Given the description of an element on the screen output the (x, y) to click on. 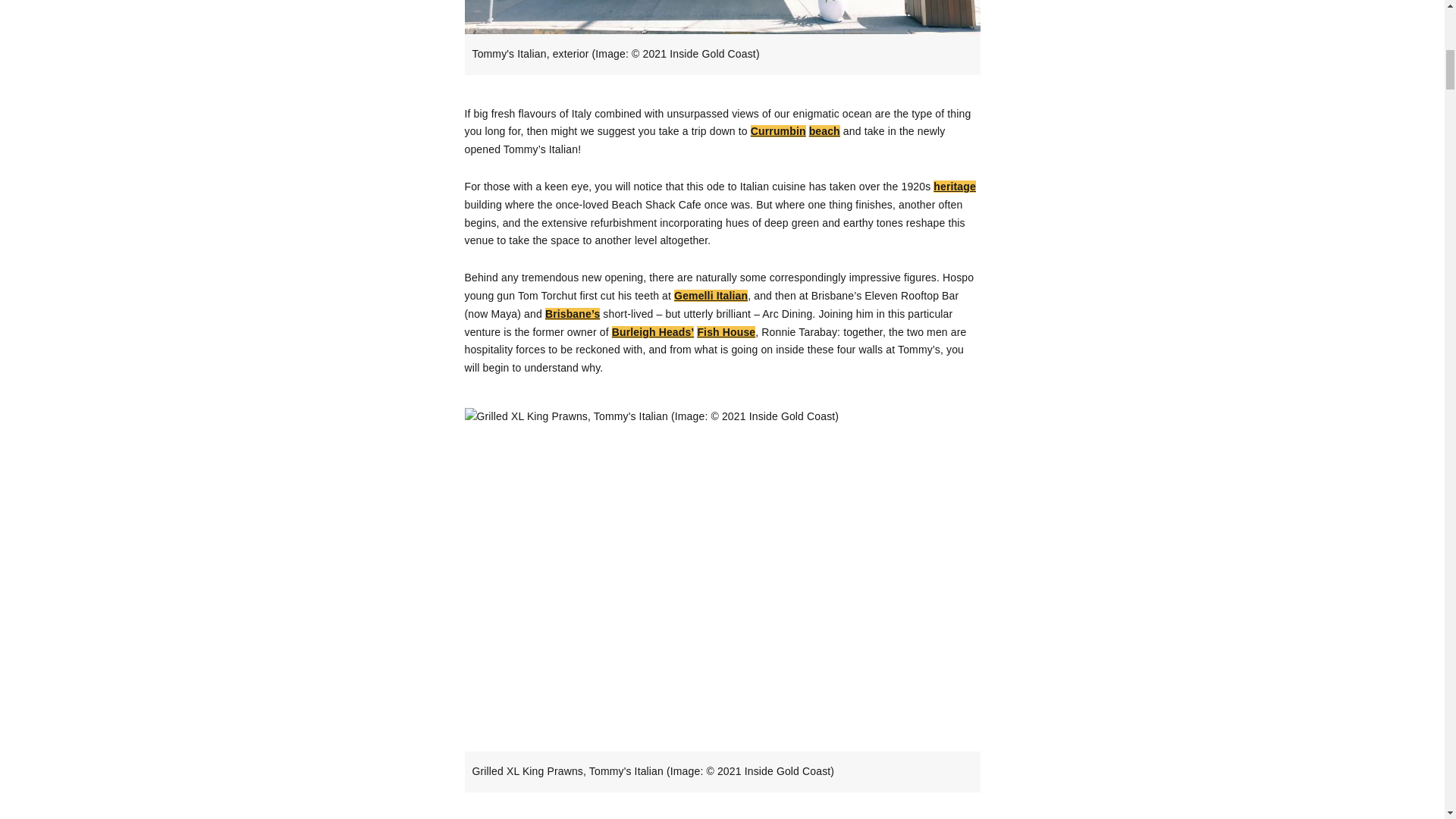
beach (824, 131)
Gemelli Italian (711, 295)
Fish House (726, 331)
Currumbin (778, 131)
heritage (954, 186)
